Given the description of an element on the screen output the (x, y) to click on. 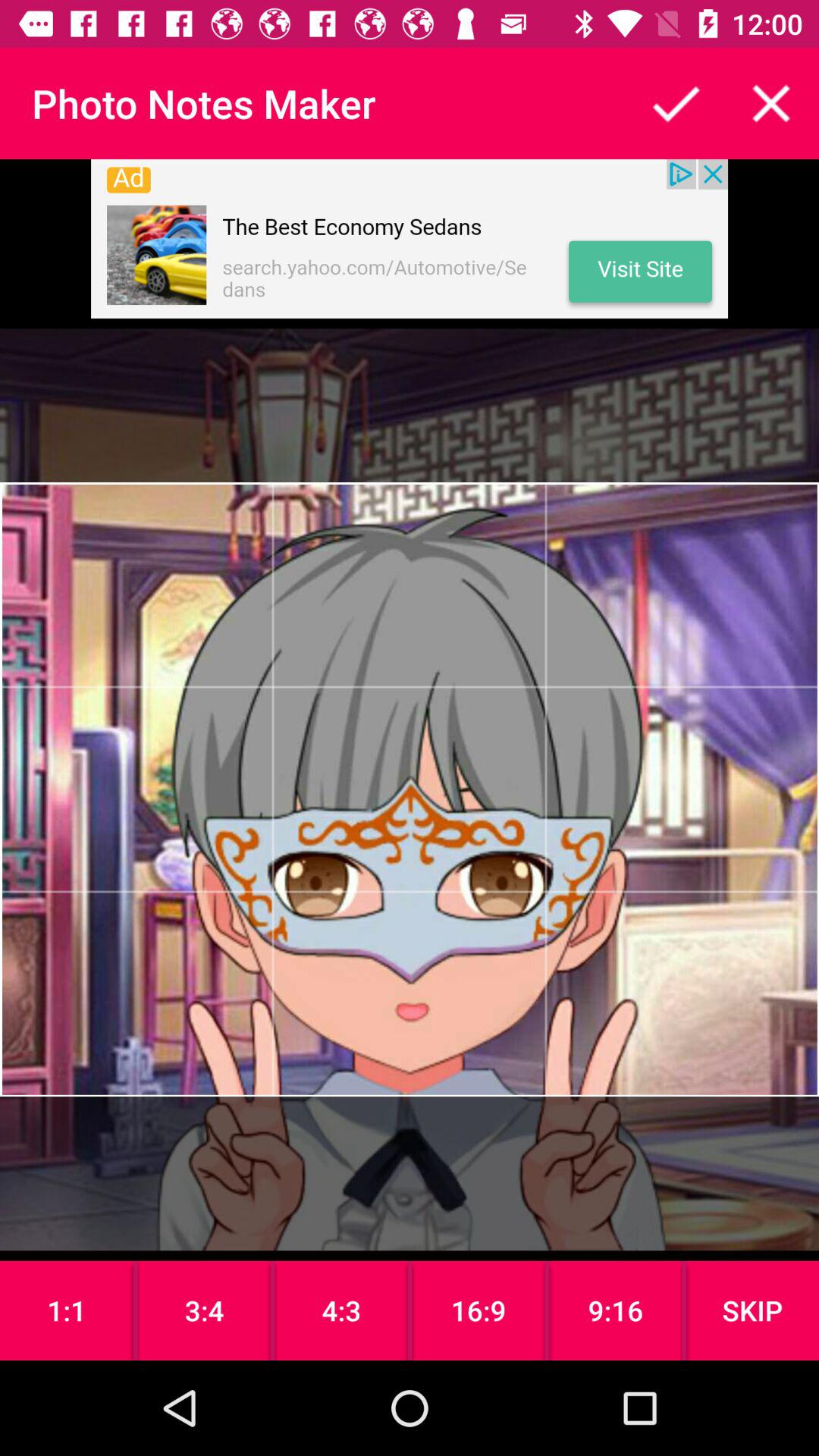
ok (675, 103)
